Given the description of an element on the screen output the (x, y) to click on. 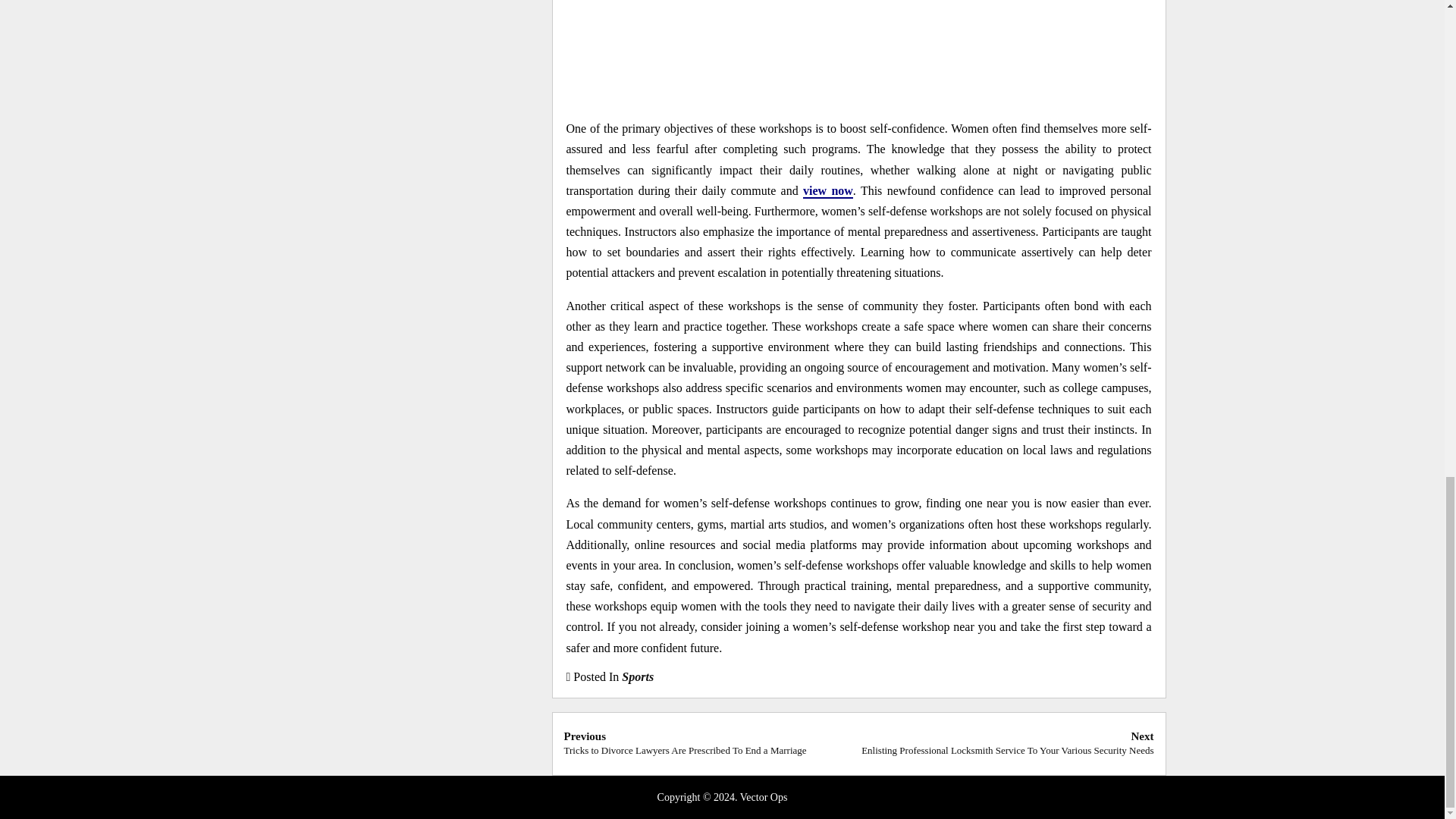
Sports (637, 676)
Vector Ops (763, 797)
view now (828, 191)
